Given the description of an element on the screen output the (x, y) to click on. 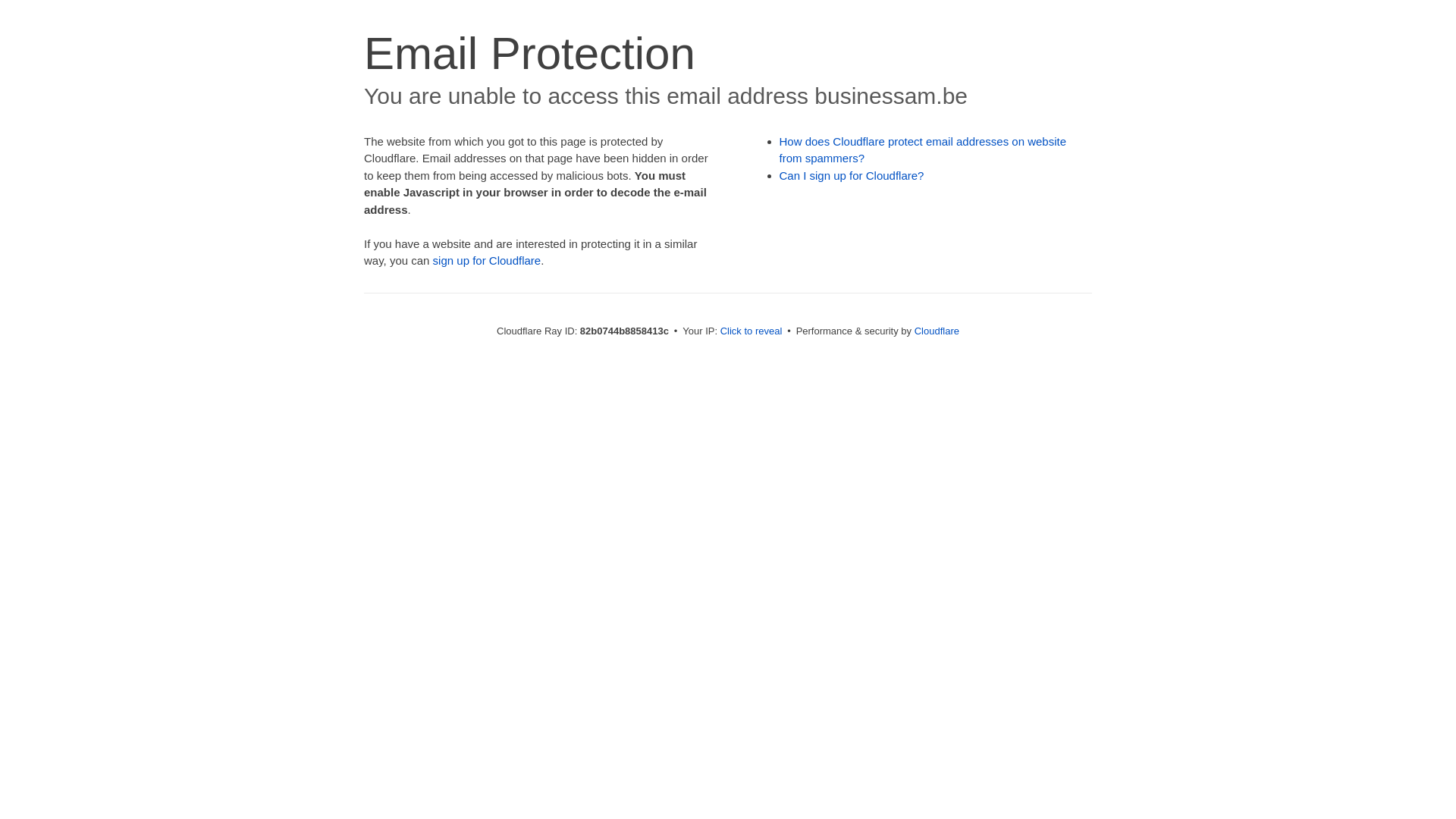
Click to reveal Element type: text (751, 330)
Can I sign up for Cloudflare? Element type: text (851, 175)
Cloudflare Element type: text (936, 330)
sign up for Cloudflare Element type: text (487, 260)
